Given the description of an element on the screen output the (x, y) to click on. 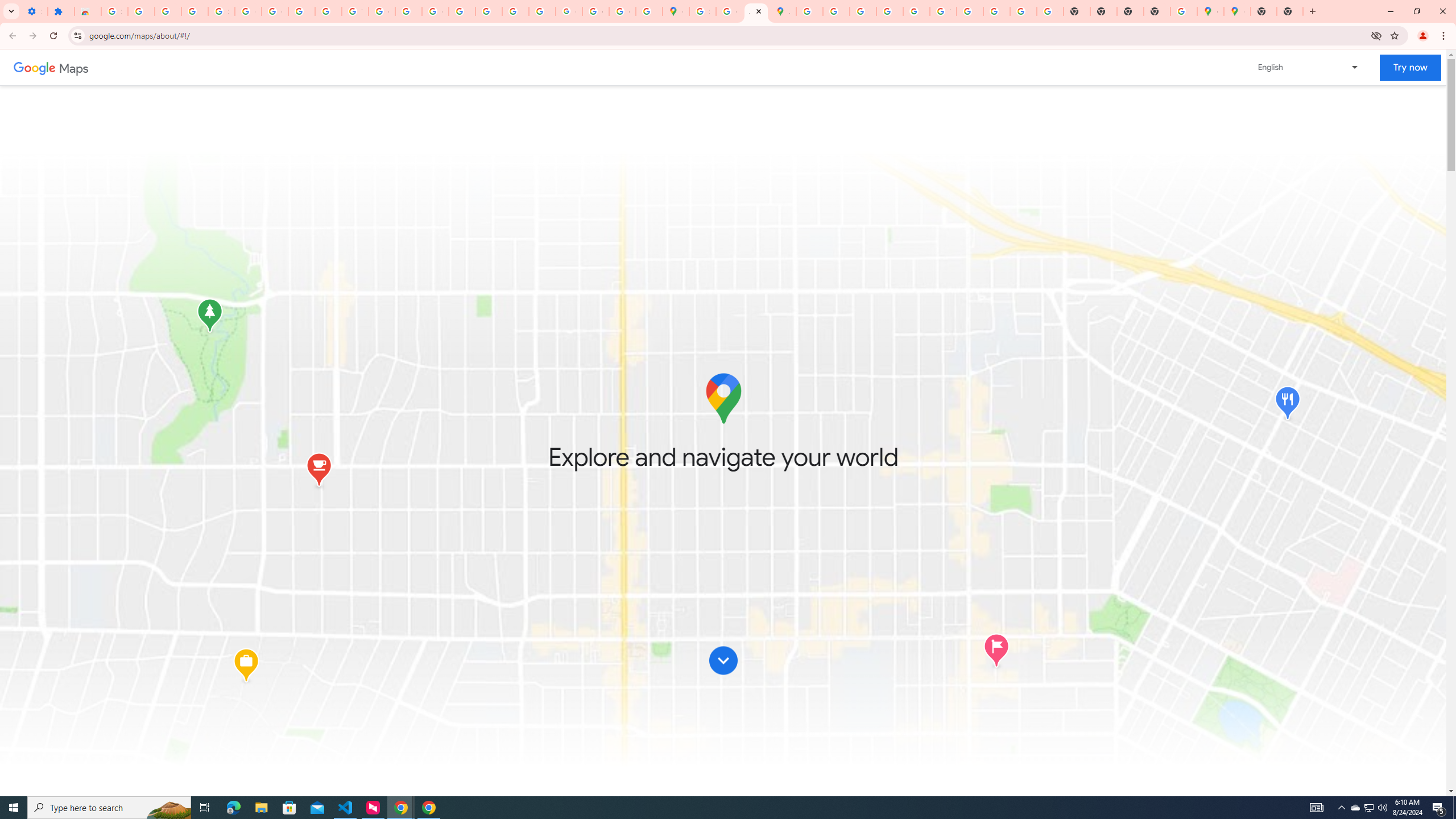
Delete photos & videos - Computer - Google Photos Help (141, 11)
